Given the description of an element on the screen output the (x, y) to click on. 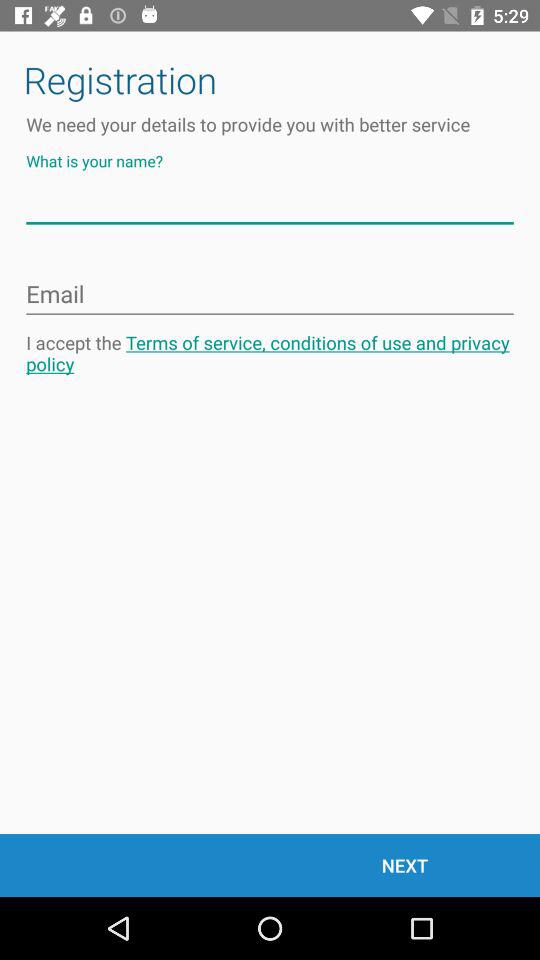
type the email address (270, 295)
